Given the description of an element on the screen output the (x, y) to click on. 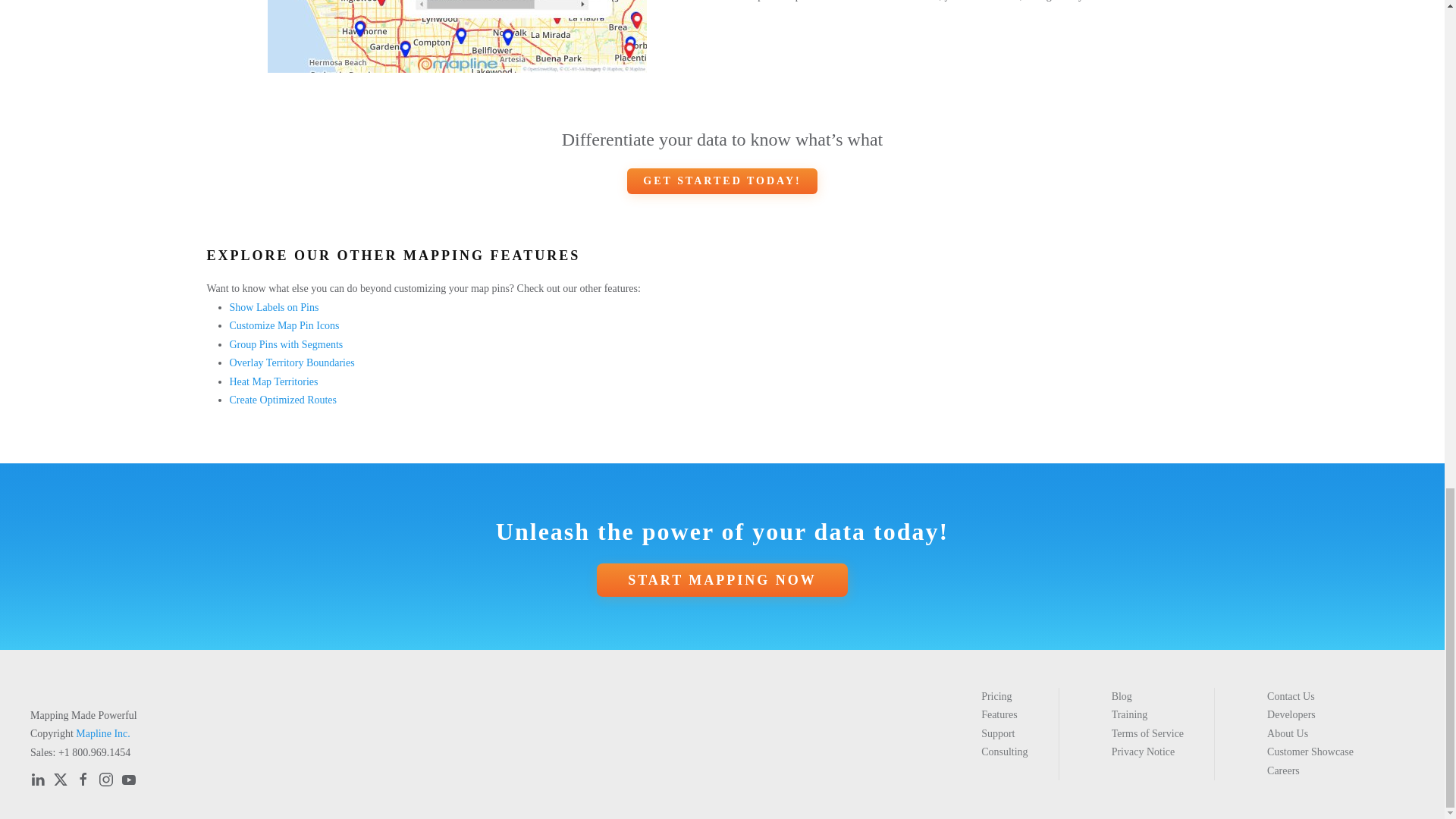
Show Labels on Pins (273, 307)
GET STARTED TODAY! (721, 181)
Customize Map Pin Icons (283, 325)
